Given the description of an element on the screen output the (x, y) to click on. 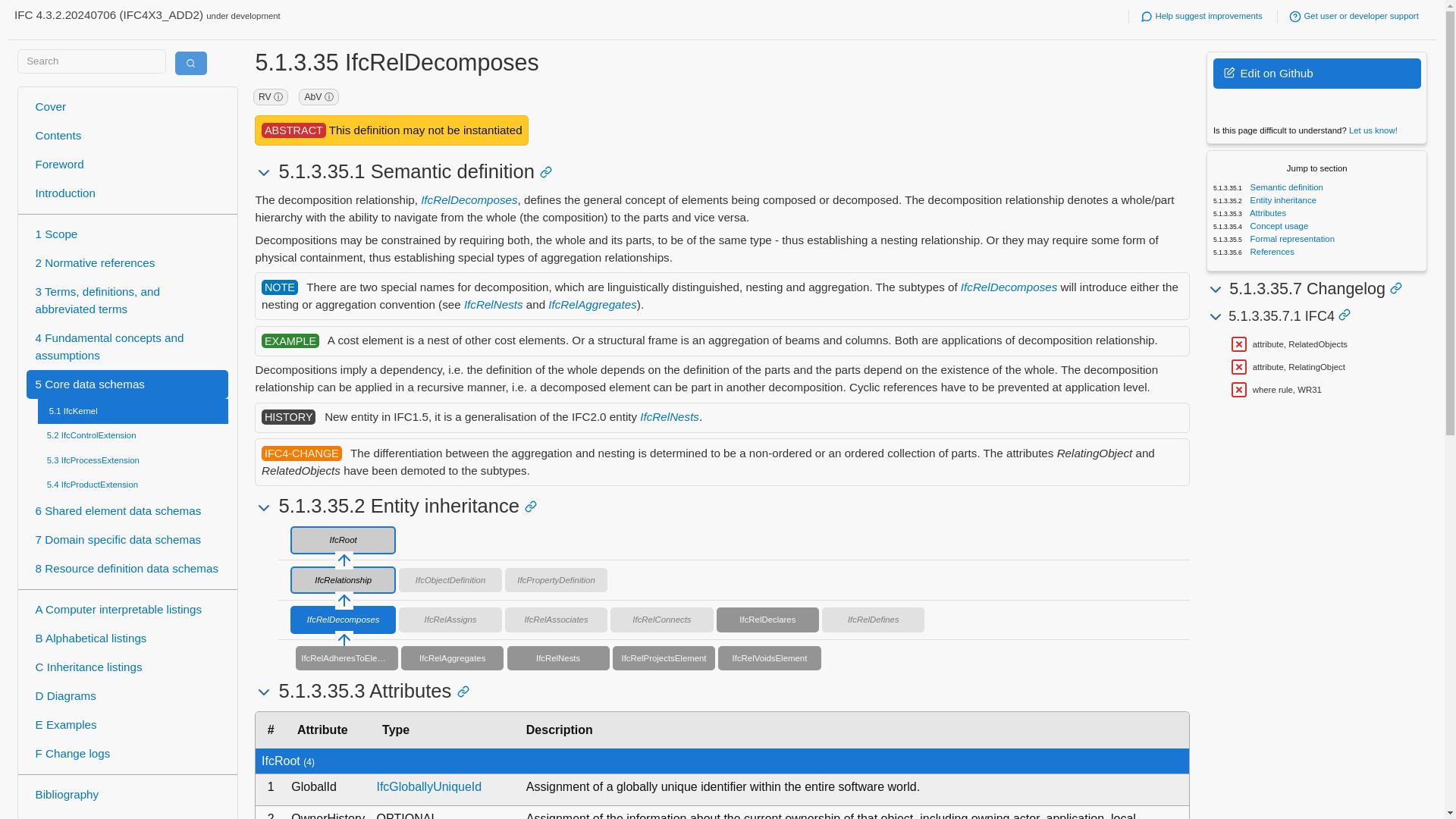
2 Normative references (127, 263)
IfcRoot (342, 539)
IfcRelDecomposes (1008, 286)
B Alphabetical listings (127, 638)
4 Fundamental concepts and assumptions (127, 347)
Introduction (127, 193)
IfcRelAggregates (592, 304)
Search (190, 63)
Bibliography (127, 795)
IfcRelNests (493, 304)
6 Shared element data schemas (127, 511)
C Inheritance listings (127, 667)
5.2 IfcControlExtension (132, 435)
Help suggest improvements (1201, 15)
